Given the description of an element on the screen output the (x, y) to click on. 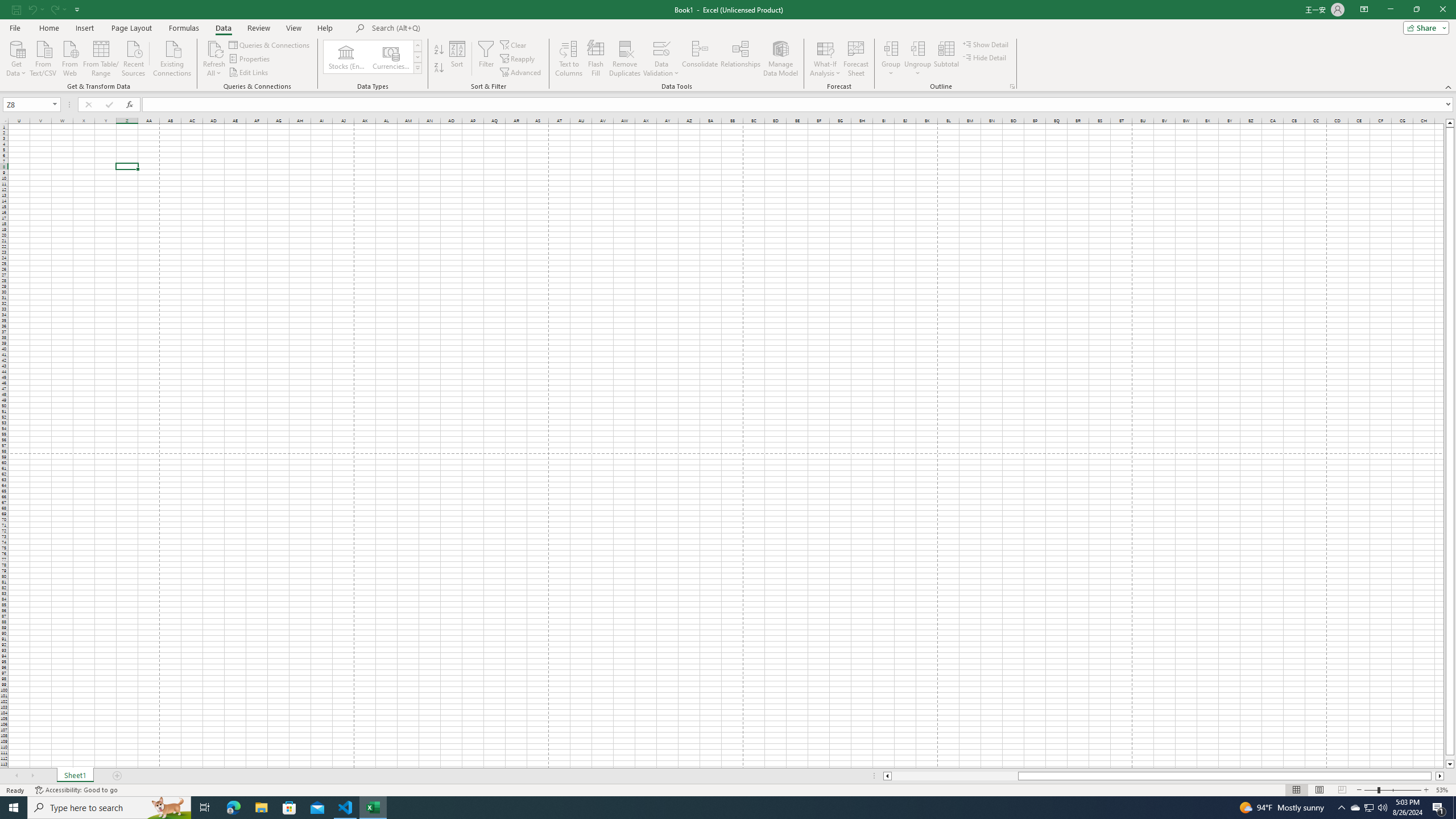
Subtotal (946, 58)
Sort... (456, 58)
Clear (513, 44)
